Given the description of an element on the screen output the (x, y) to click on. 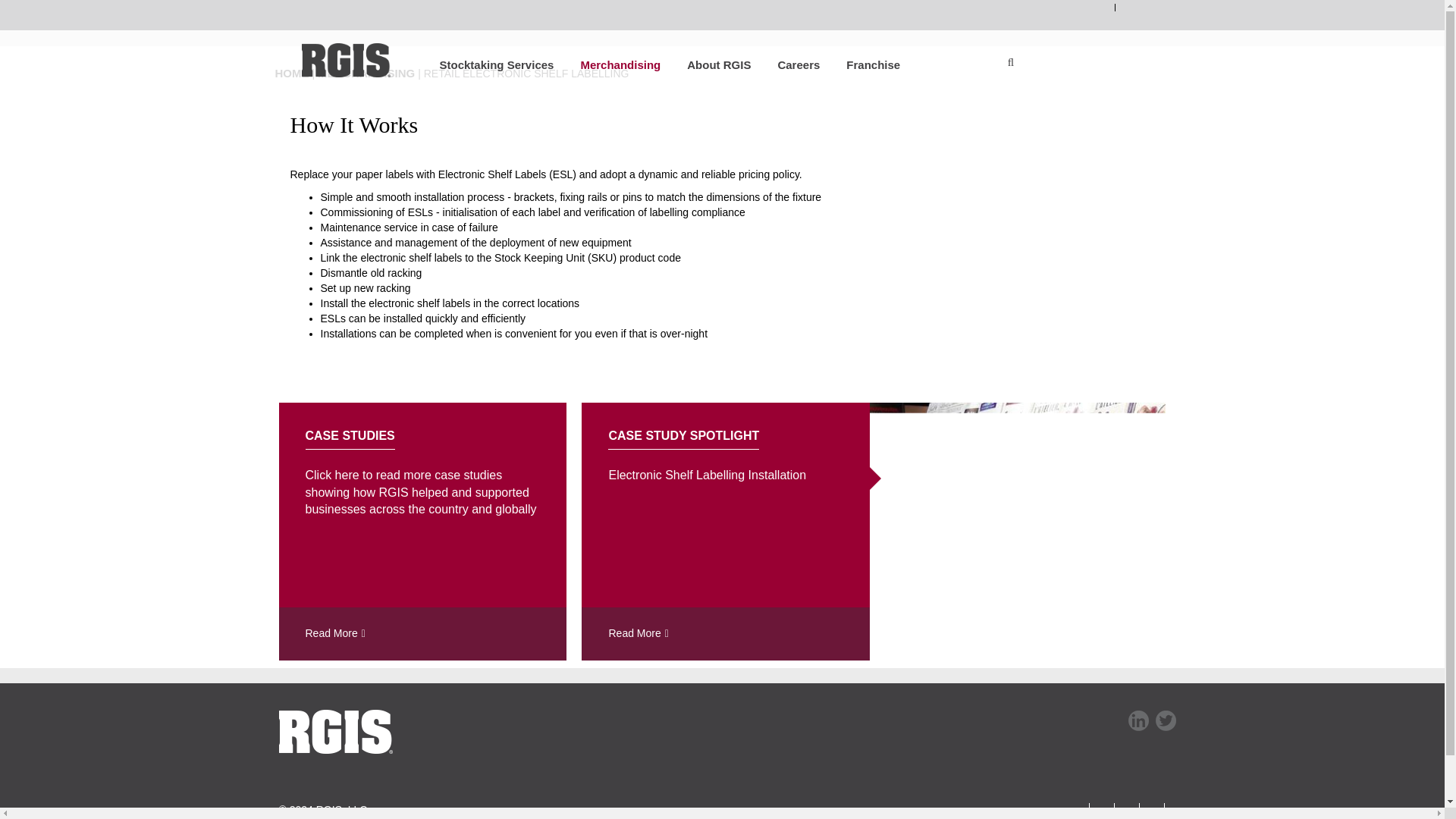
Read More (724, 633)
The hands-on resources to keep your stores fresh. (365, 72)
Franchise (859, 64)
The hands-on resources to keep your stores fresh. (607, 64)
Merchandising (607, 64)
MERCHANDISING (365, 72)
Stocktaking Services (482, 64)
HOME (291, 72)
Careers (785, 64)
Read More  (423, 633)
